Given the description of an element on the screen output the (x, y) to click on. 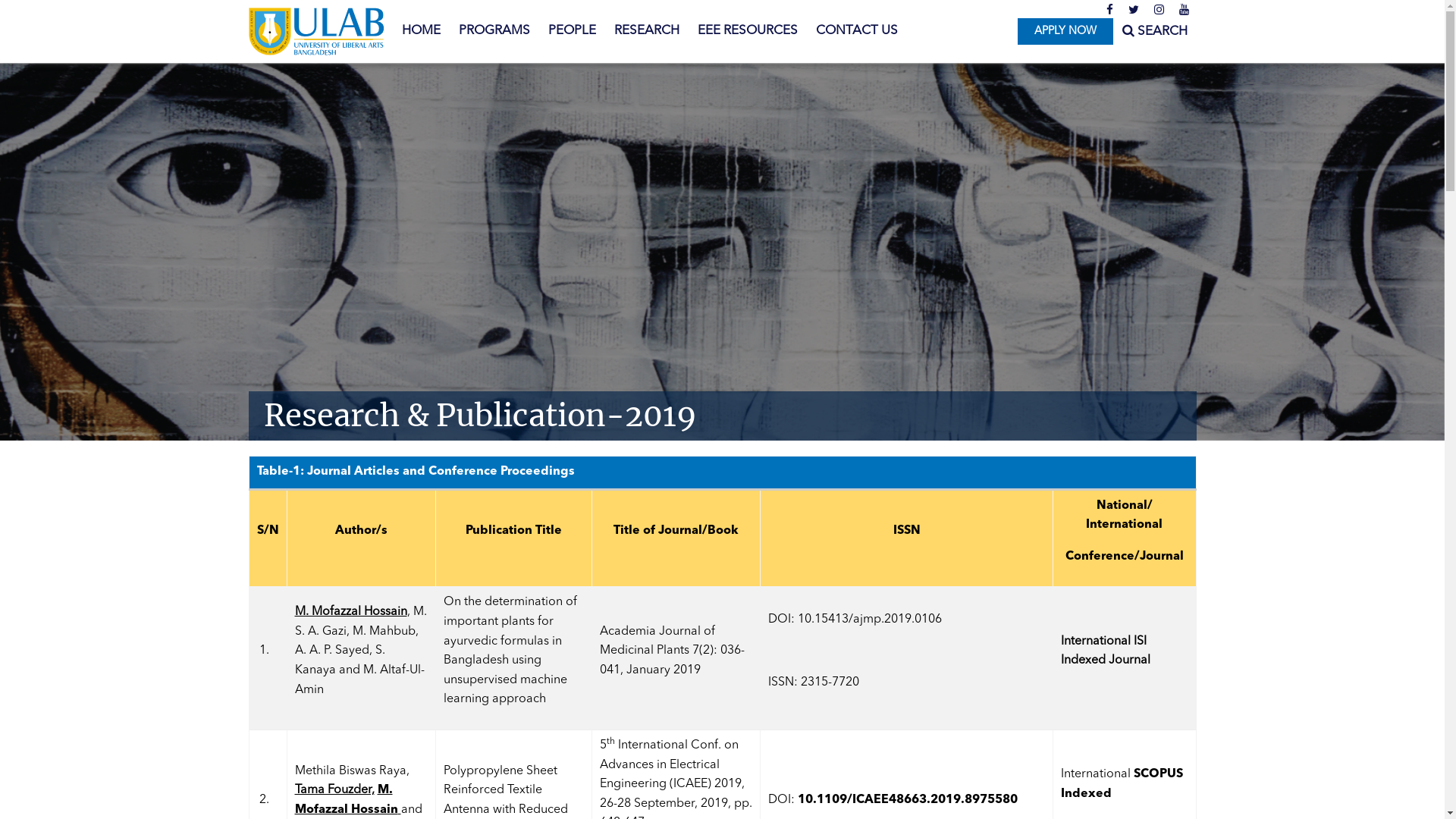
M. Mofazzal Hossain Element type: text (345, 799)
PEOPLE Element type: text (571, 30)
SEARCH Element type: text (1154, 31)
Skip to main content Element type: text (61, 0)
RESEARCH Element type: text (646, 30)
APPLY NOW Element type: text (1064, 31)
CONTACT US Element type: text (856, 30)
10.1109/ICAEE48663.2019.8975580 Element type: text (907, 799)
EEE RESOURCES Element type: text (747, 30)
HOME Element type: text (420, 30)
PROGRAMS Element type: text (493, 30)
